Given the description of an element on the screen output the (x, y) to click on. 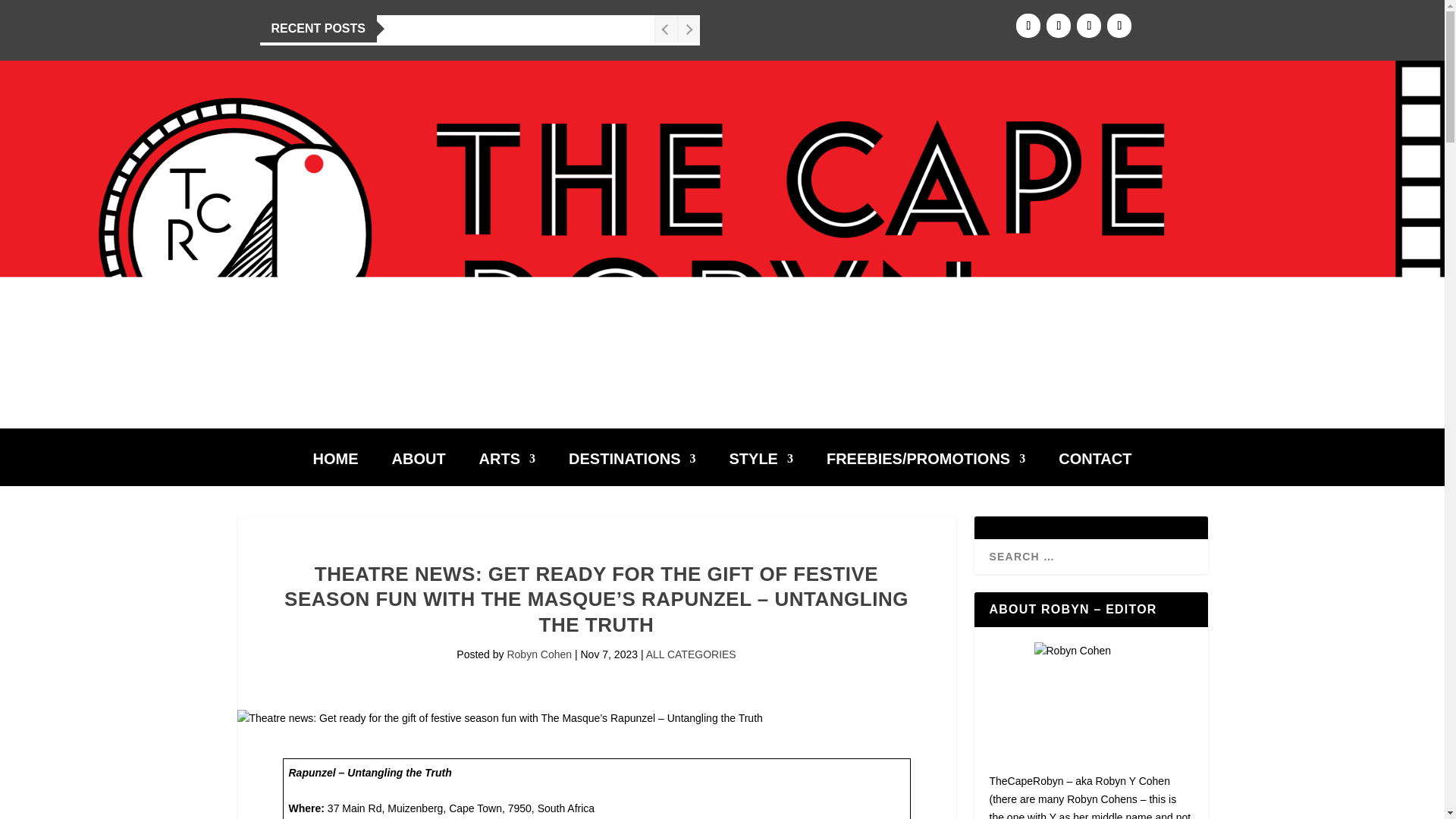
Follow on Facebook (1028, 25)
Follow on LinkedIn (1118, 25)
Posts by Robyn Cohen (539, 654)
Follow on Instagram (1058, 25)
Follow on X (1088, 25)
